Given the description of an element on the screen output the (x, y) to click on. 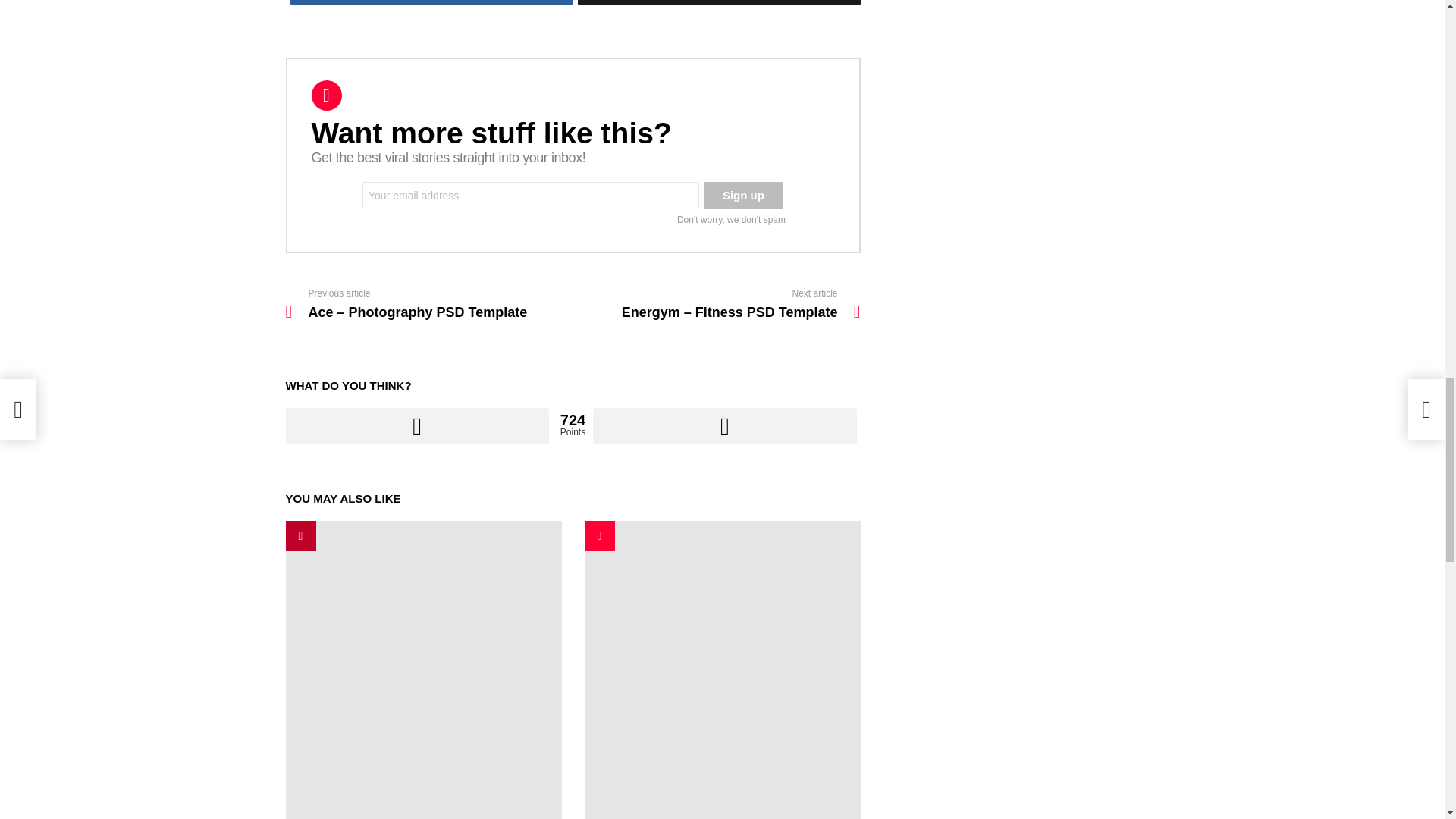
Trending (300, 535)
Downvote (724, 425)
Upvote (416, 425)
Sign up (743, 195)
